Given the description of an element on the screen output the (x, y) to click on. 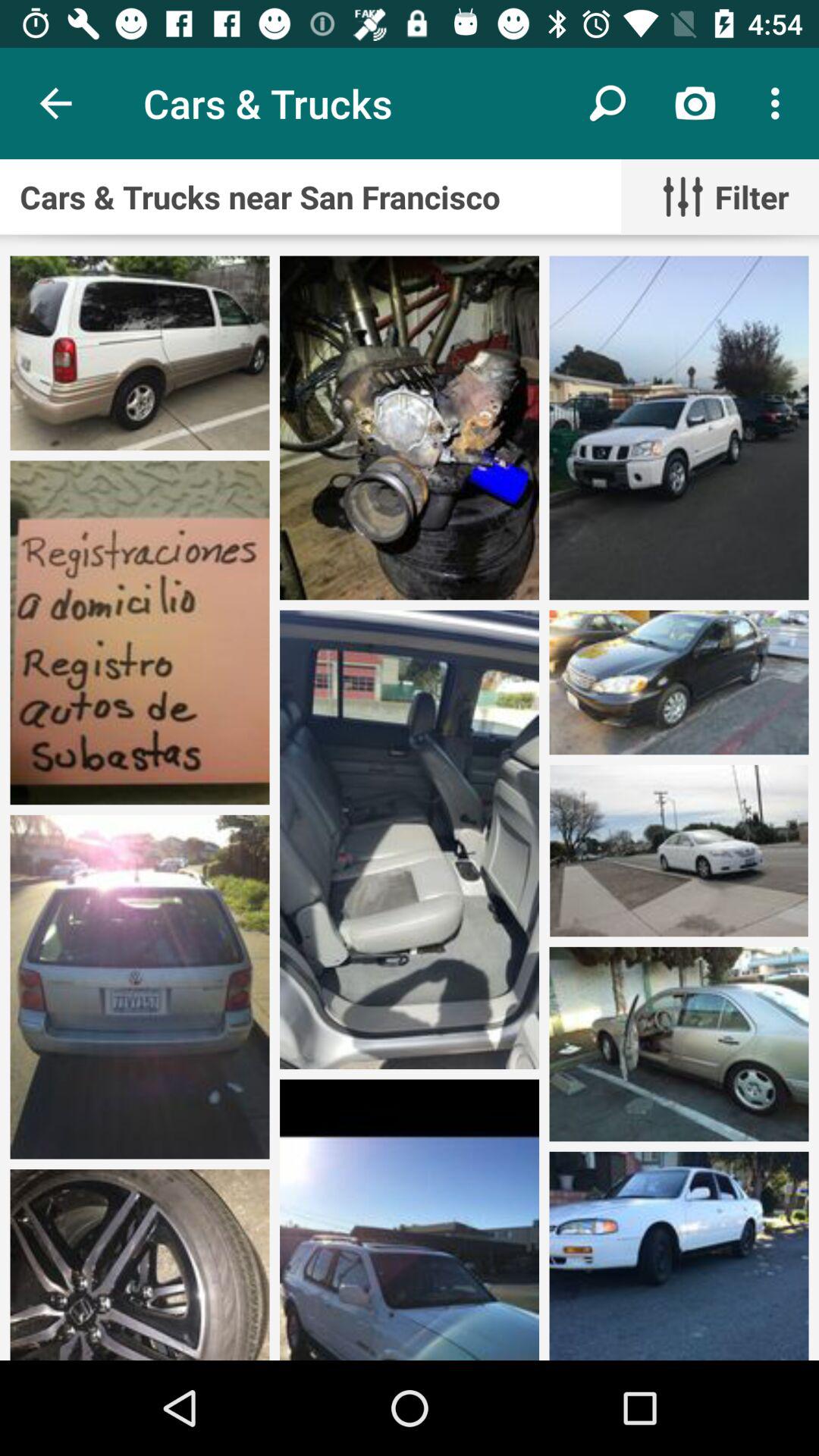
flip to the filter (720, 196)
